Given the description of an element on the screen output the (x, y) to click on. 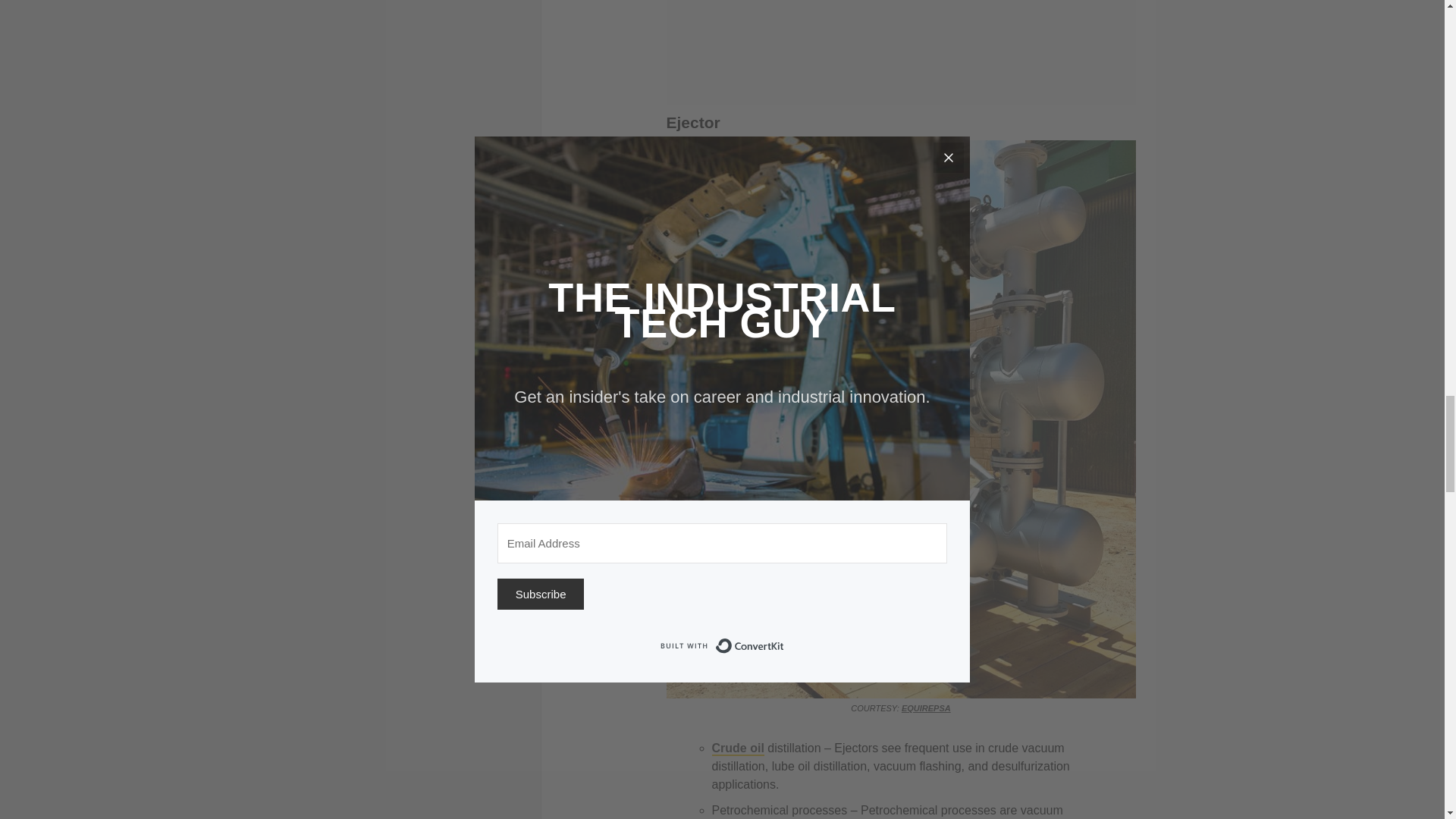
Crude oil (736, 748)
EQUIREPSA (925, 707)
